Given the description of an element on the screen output the (x, y) to click on. 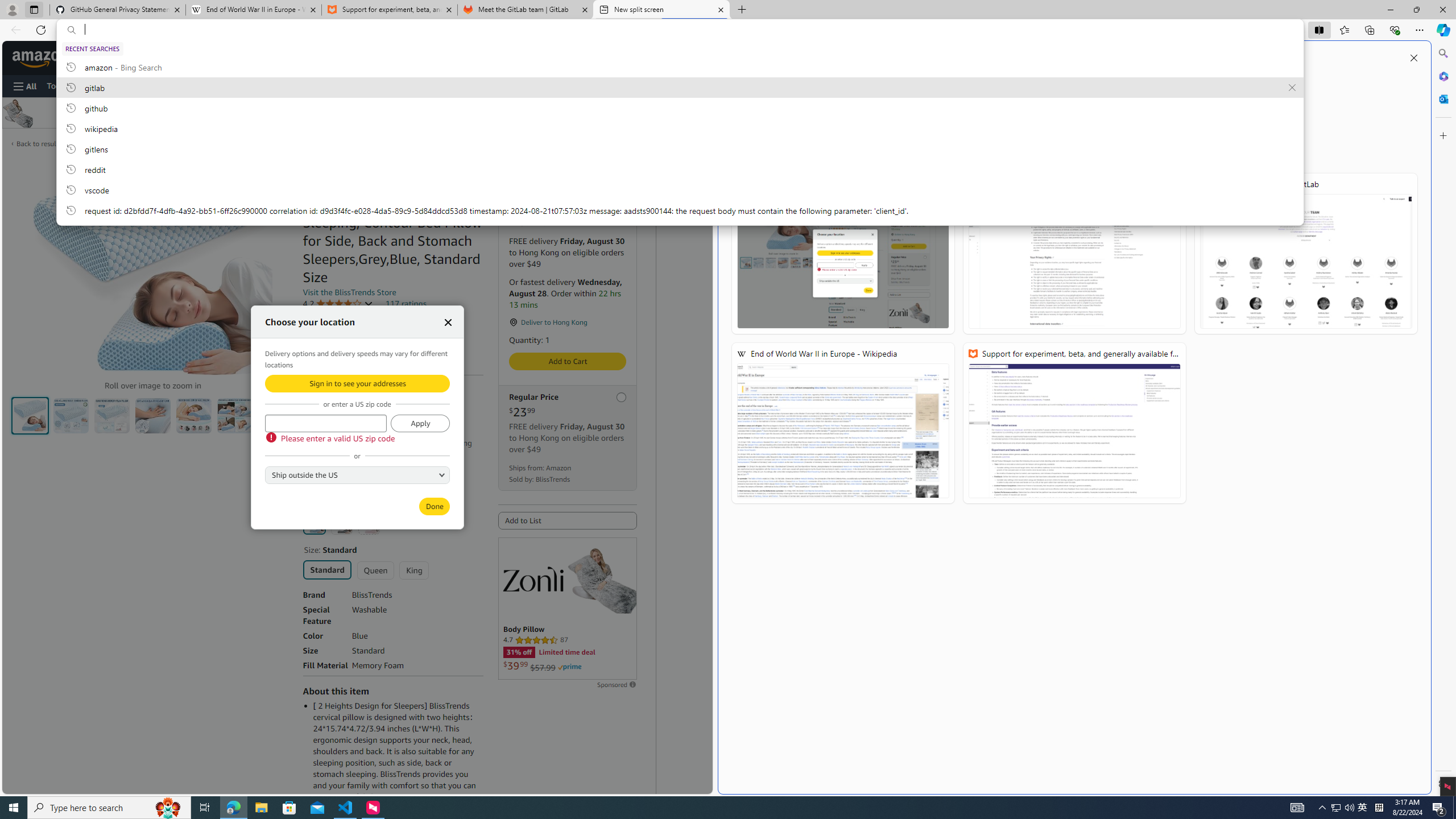
Sustainability features 1 sustainability feature  (356, 350)
Choose a language for shopping. (450, 57)
Search or enter web address (1074, 108)
reddit, recent searches from history (679, 168)
Back to results (39, 144)
Learn more about Amazon pricing and savings (360, 427)
Grey (341, 522)
